Given the description of an element on the screen output the (x, y) to click on. 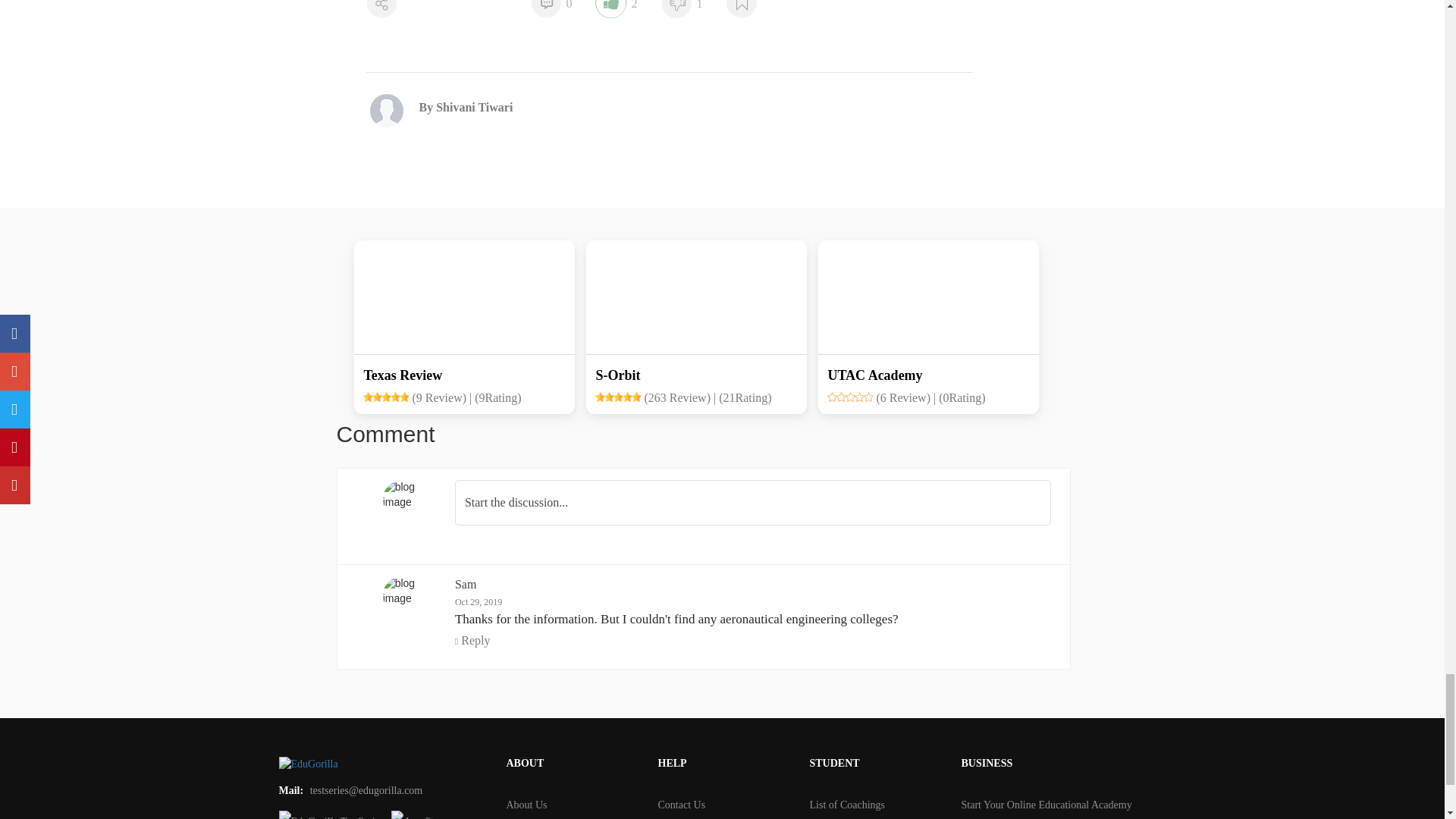
Comment (544, 9)
Upvote (610, 9)
Share (380, 9)
Downvote (674, 9)
